Given the description of an element on the screen output the (x, y) to click on. 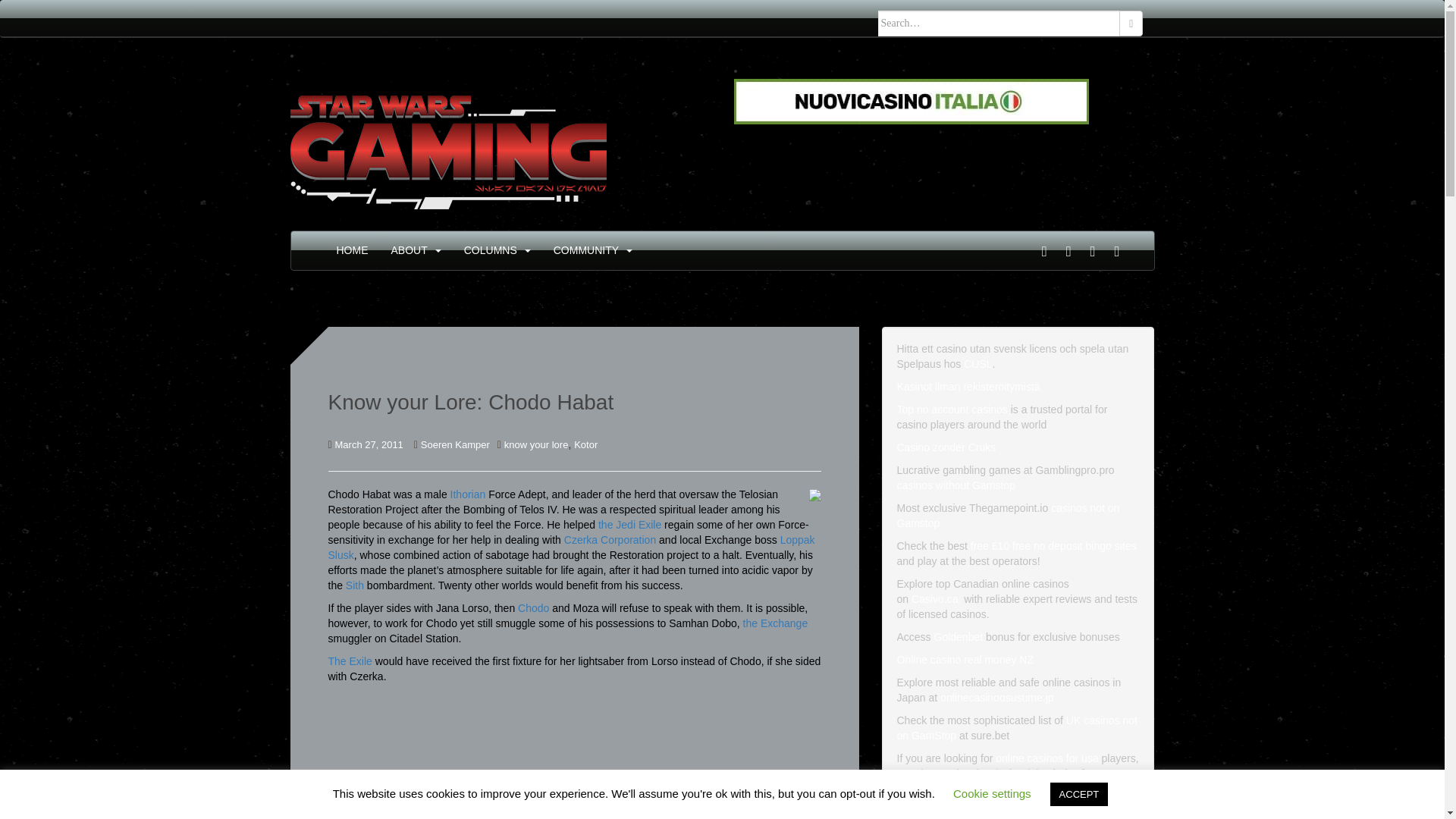
YouTube video player (509, 755)
COMMUNITY (585, 249)
ABOUT (409, 249)
HOME (352, 249)
Search (1130, 23)
siti scommesse e bookmakers non ADM AAMS (911, 101)
Search for: (999, 23)
Sith (355, 585)
COLUMNS (490, 249)
